Given the description of an element on the screen output the (x, y) to click on. 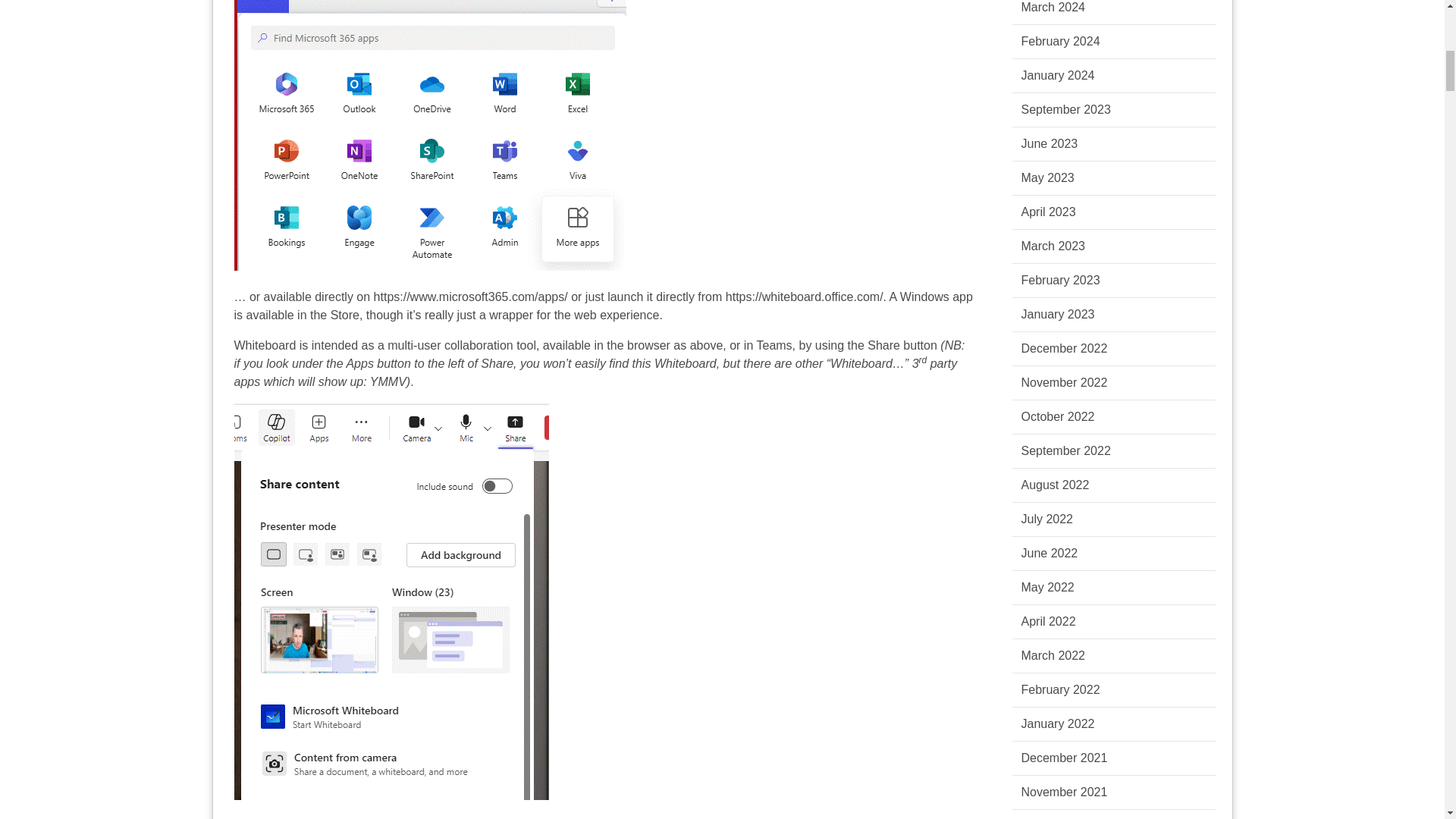
available in the Store (302, 314)
YMMV (387, 381)
